Given the description of an element on the screen output the (x, y) to click on. 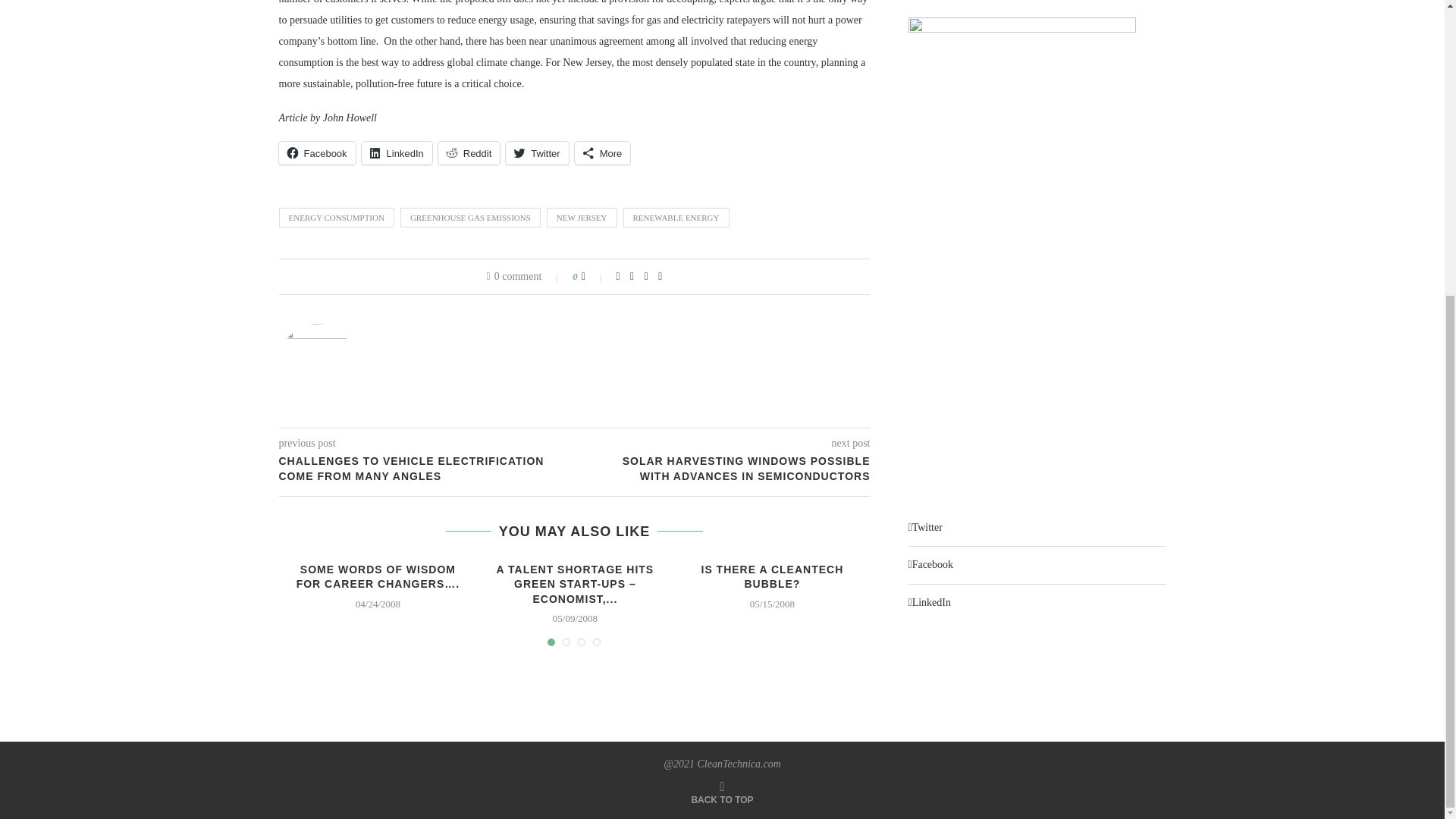
Click to share on Twitter (536, 152)
LinkedIn (396, 152)
Click to share on LinkedIn (396, 152)
NEW JERSEY (582, 217)
Click to share on Facebook (317, 152)
ENERGY CONSUMPTION (336, 217)
Like (592, 276)
Reddit (469, 152)
GREENHOUSE GAS EMISSIONS (470, 217)
RENEWABLE ENERGY (676, 217)
More (602, 152)
Click to share on Reddit (469, 152)
Twitter (536, 152)
Facebook (317, 152)
